Given the description of an element on the screen output the (x, y) to click on. 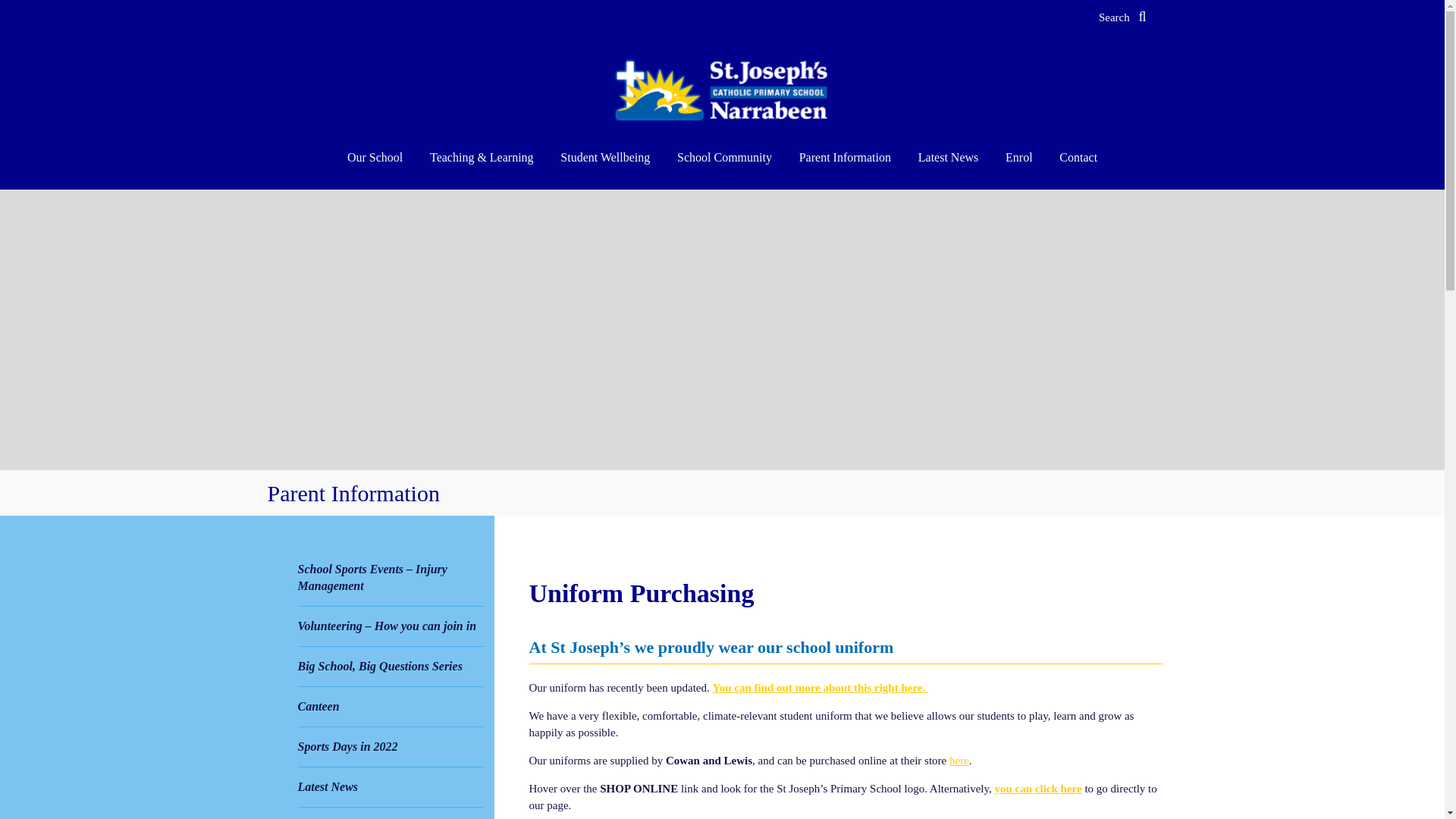
School Community (724, 158)
Our School (375, 158)
Parent Information (845, 158)
Student Wellbeing (604, 158)
